Given the description of an element on the screen output the (x, y) to click on. 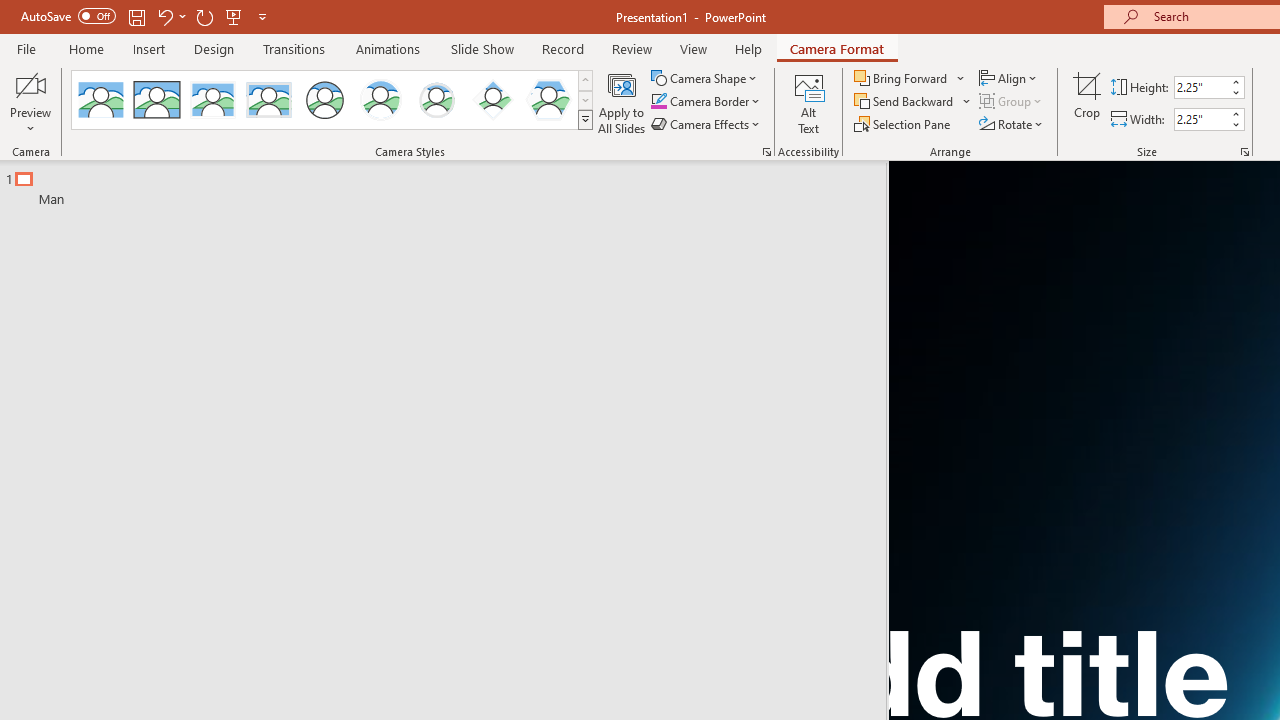
Rotate (1012, 124)
Send Backward (913, 101)
